Given the description of an element on the screen output the (x, y) to click on. 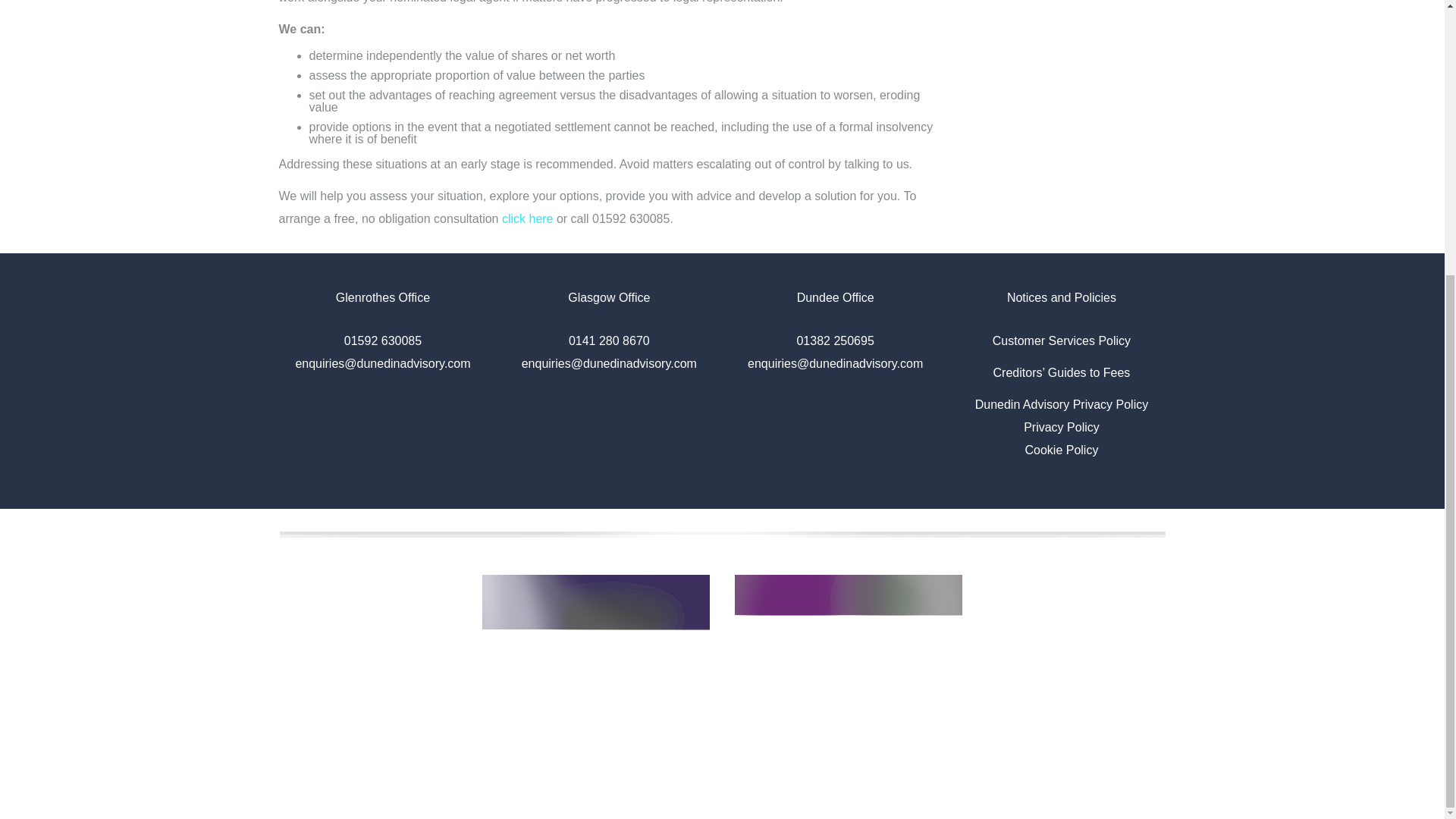
01382 250695 (834, 340)
01592 630085 (382, 340)
click here (527, 218)
0141 280 8670 (609, 340)
Customer Services Policy (1061, 340)
